Given the description of an element on the screen output the (x, y) to click on. 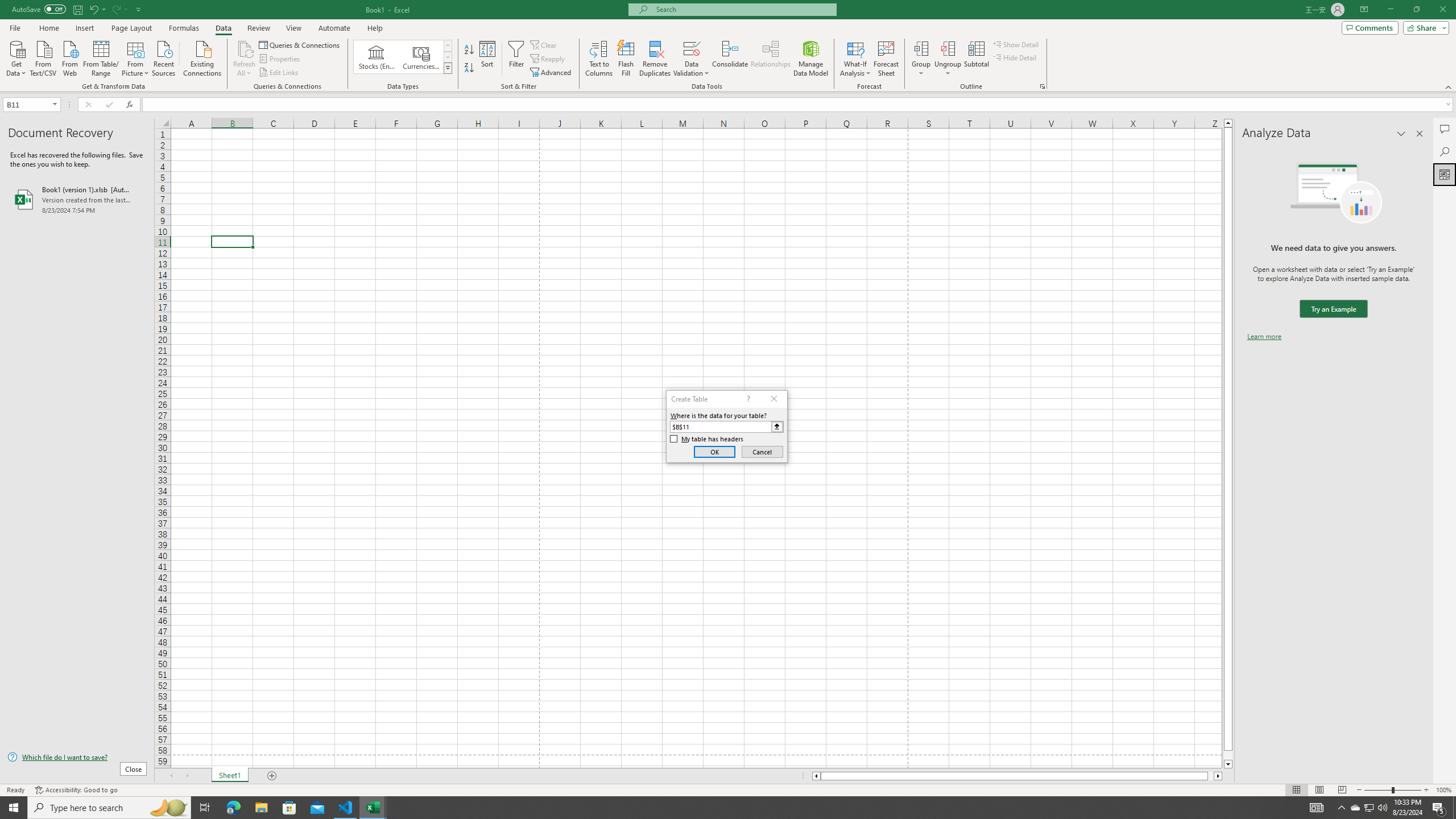
Search (1444, 151)
From Table/Range (100, 57)
Sort... (487, 58)
Reapply (548, 58)
From Text/CSV (43, 57)
From Picture (135, 57)
